Given the description of an element on the screen output the (x, y) to click on. 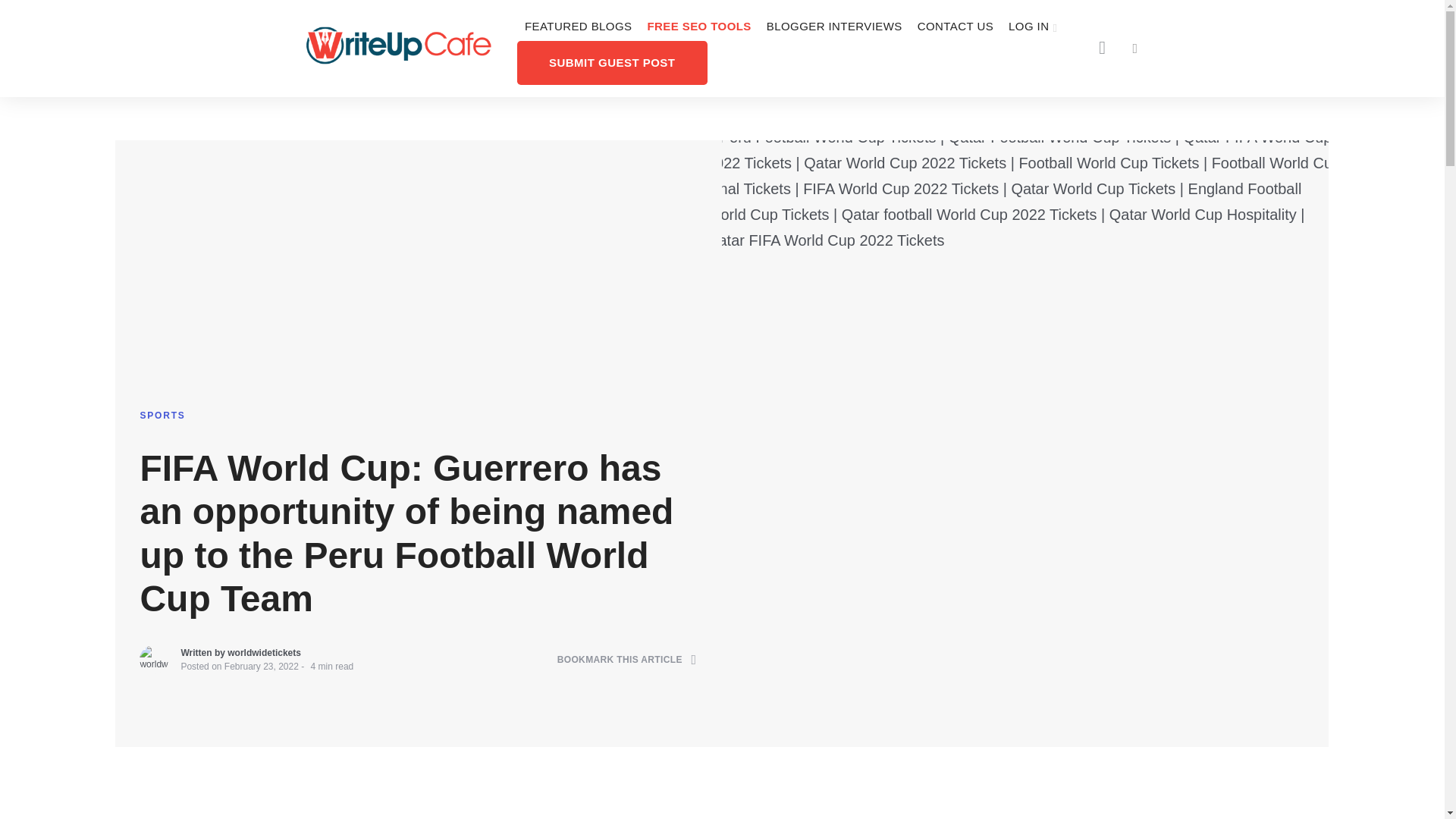
BLOGGER INTERVIEWS (834, 26)
LOG IN (1032, 26)
SPORTS (161, 403)
CONTACT US (955, 26)
BLOGGER INTERVIEWS (834, 26)
LOG IN (1032, 26)
FREE SEO TOOLS (698, 26)
February 23, 2022 (261, 690)
FEATURED BLOGS (577, 26)
BOOKMARK THIS ARTICLE (627, 682)
worldwidetickets (264, 677)
FREE SEO TOOLS (698, 26)
CONTACT US (955, 26)
FEATURED BLOGS (577, 26)
SUBMIT GUEST POST (611, 62)
